Given the description of an element on the screen output the (x, y) to click on. 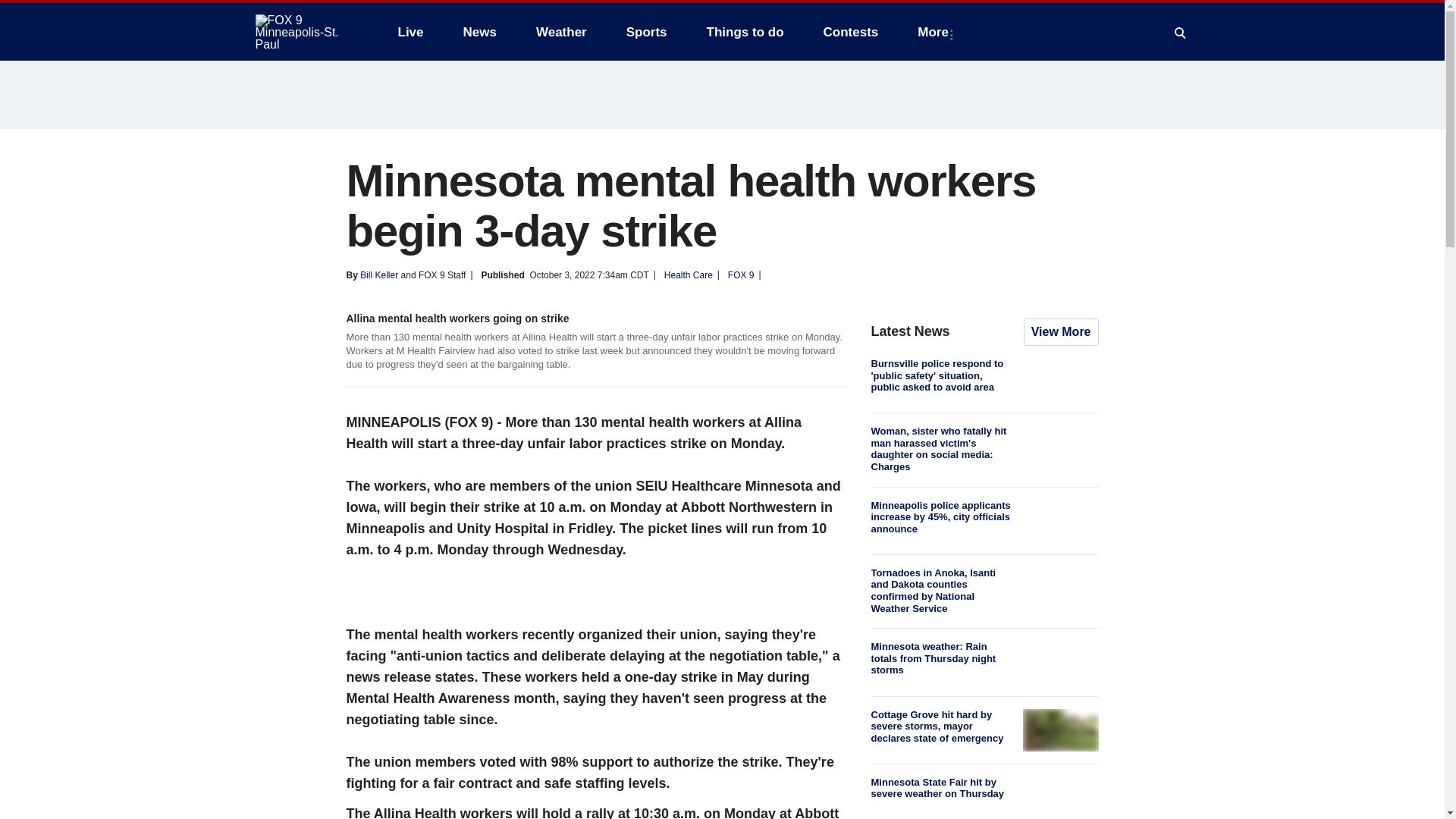
Things to do (745, 32)
Weather (561, 32)
Sports (646, 32)
Live (410, 32)
More (935, 32)
News (479, 32)
Contests (850, 32)
